Given the description of an element on the screen output the (x, y) to click on. 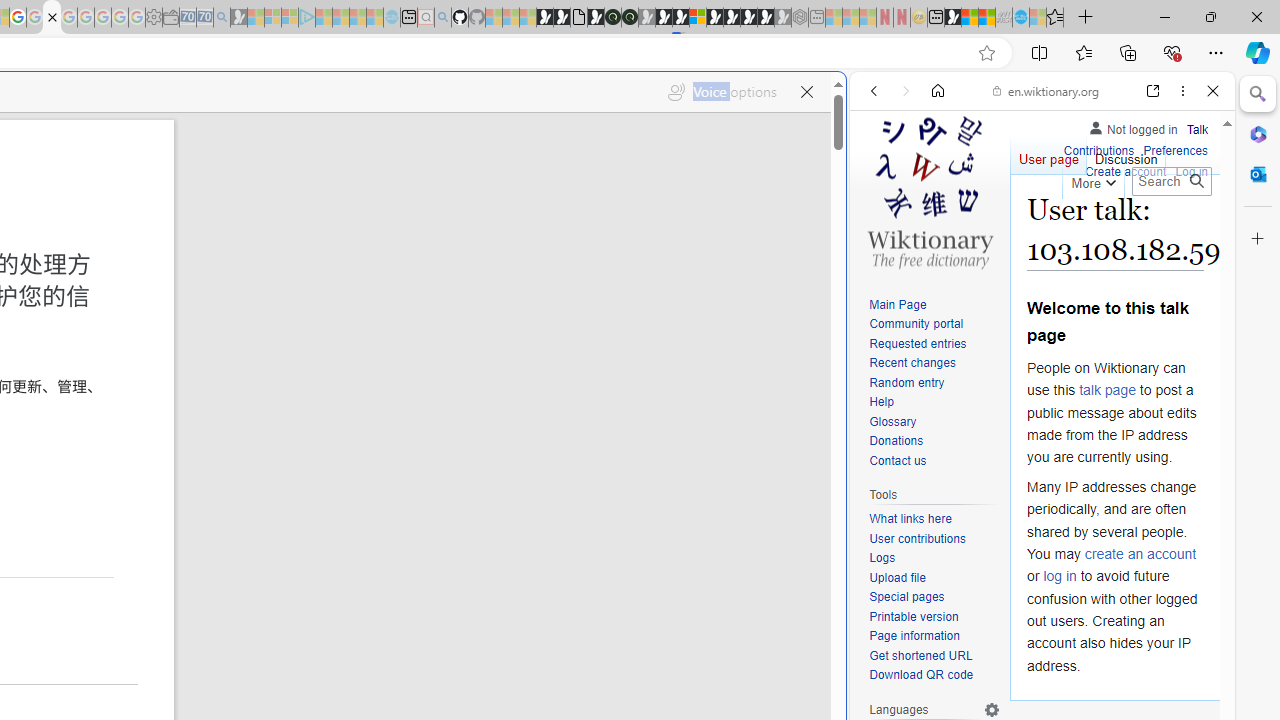
Get shortened URL (934, 655)
Discussion (1125, 154)
github - Search - Sleeping (442, 17)
Not logged in (1132, 126)
create an account (1140, 553)
Search Filter, Search Tools (1093, 228)
Special pages (934, 597)
